Given the description of an element on the screen output the (x, y) to click on. 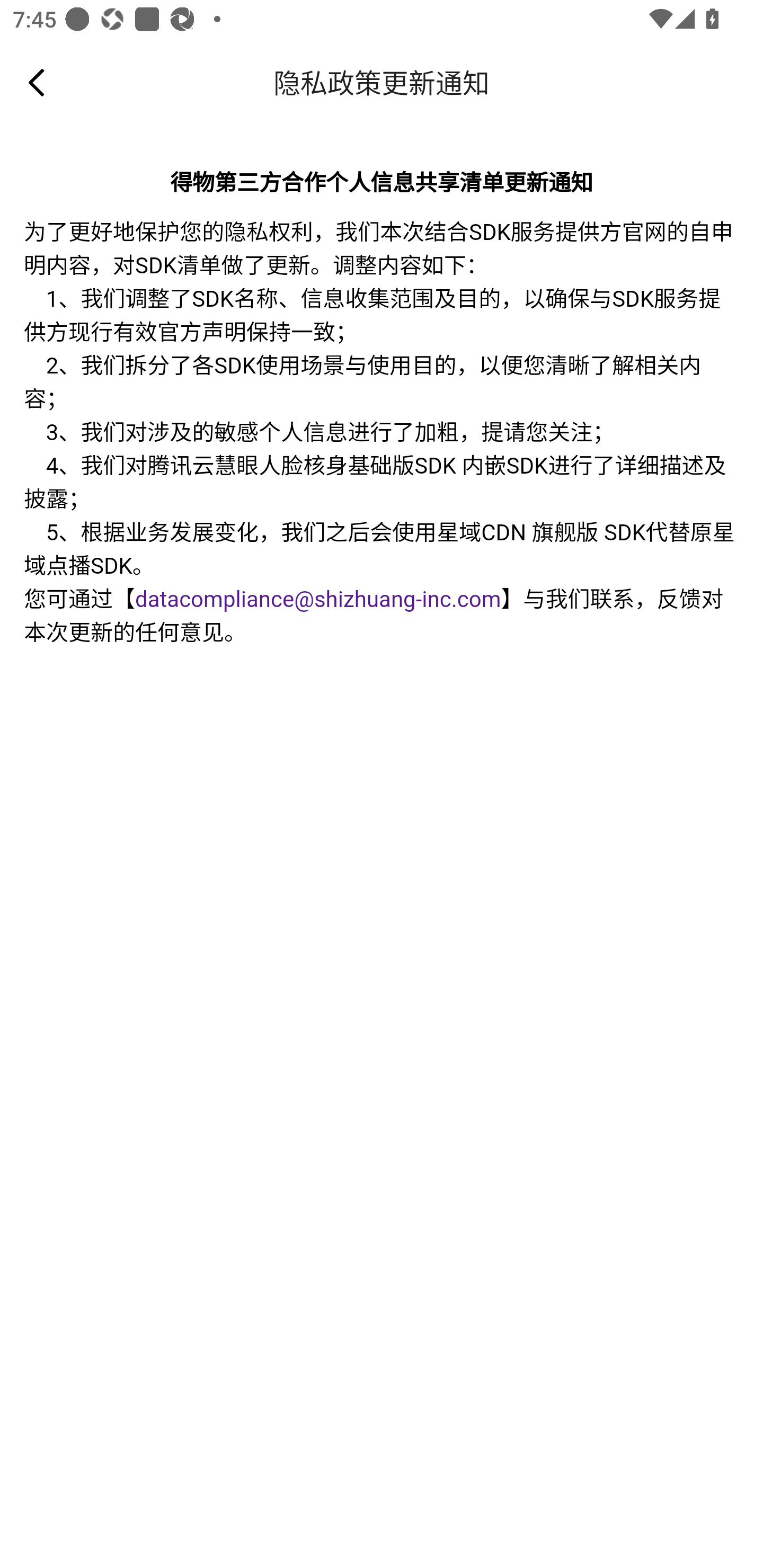
Navigate up (36, 82)
datacompliance@shizhuang-inc.com (318, 599)
